Given the description of an element on the screen output the (x, y) to click on. 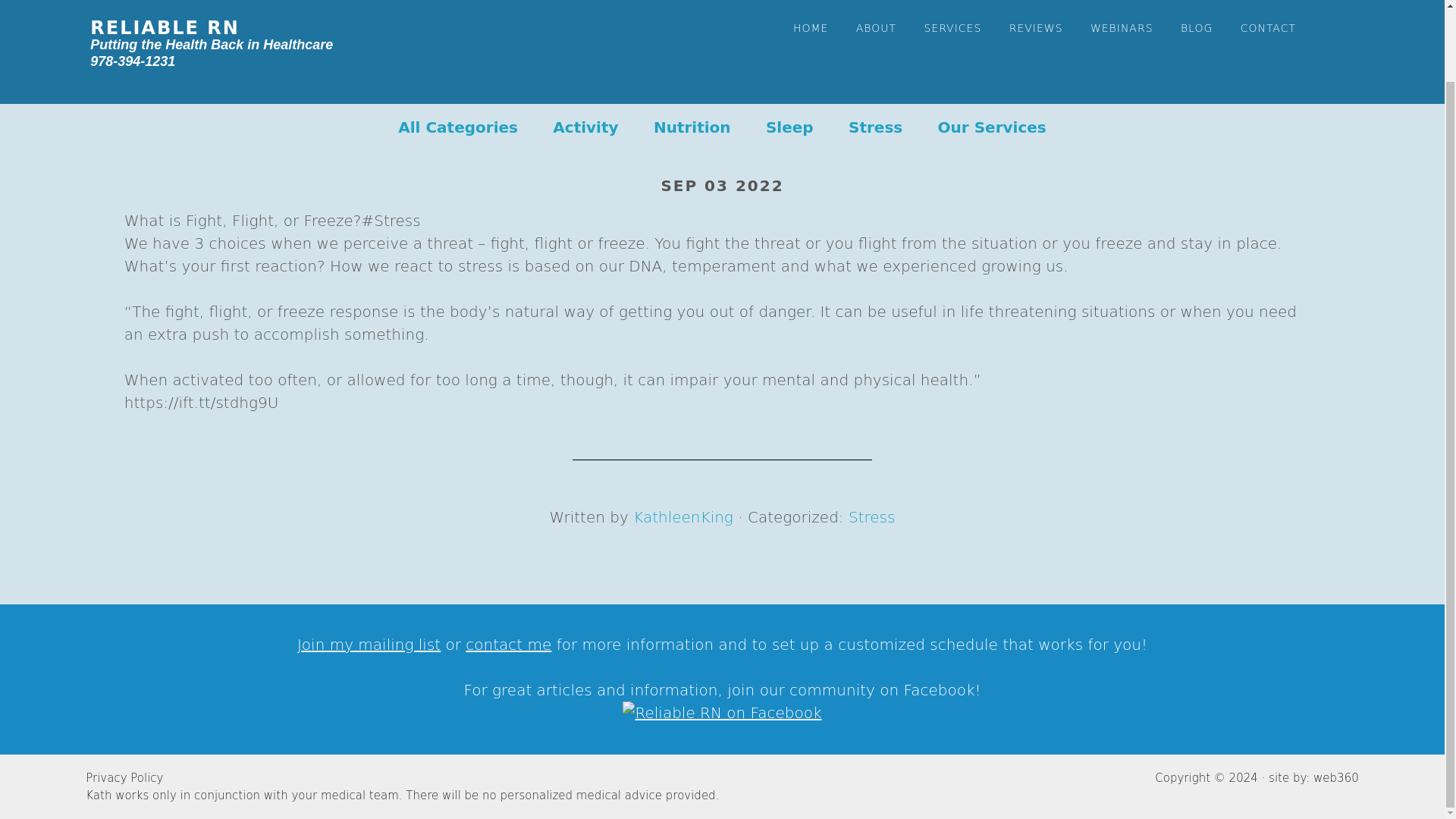
Stress (875, 126)
contact me (508, 644)
Privacy Policy (124, 777)
Join my mailing list (369, 644)
Nutrition (691, 126)
web360 (1335, 777)
Activity (585, 126)
GET STARTED (1251, 46)
Stress (871, 516)
KathleenKing (683, 516)
